Given the description of an element on the screen output the (x, y) to click on. 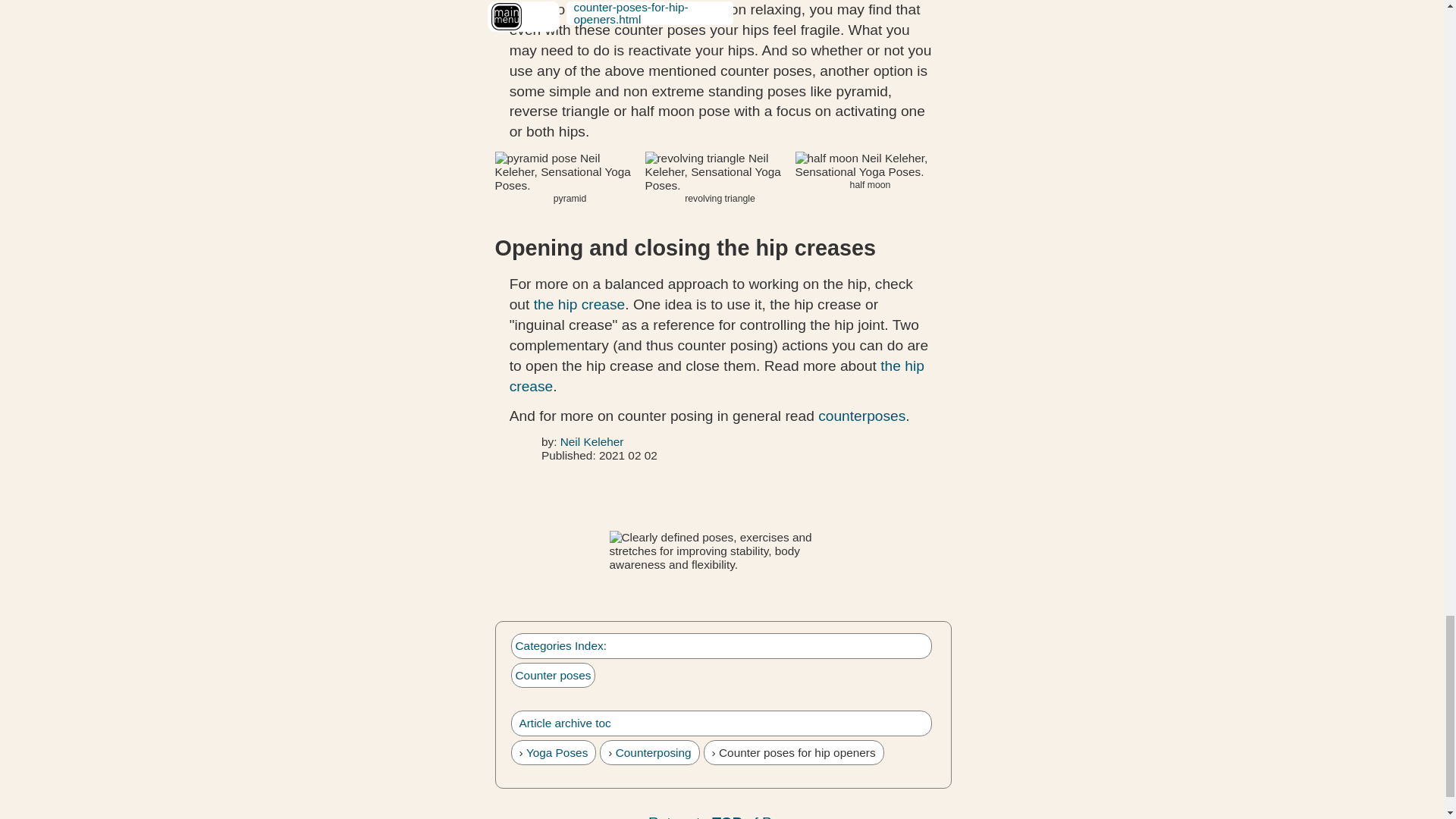
Counter poses (553, 675)
Neil Keleher (592, 440)
pyramid pose (570, 171)
the hip crease (716, 375)
the hip crease (580, 304)
Categories Index (559, 645)
Article archive toc (564, 722)
counterposes (861, 415)
revolving triangle (719, 171)
Counterposing (653, 752)
